Given the description of an element on the screen output the (x, y) to click on. 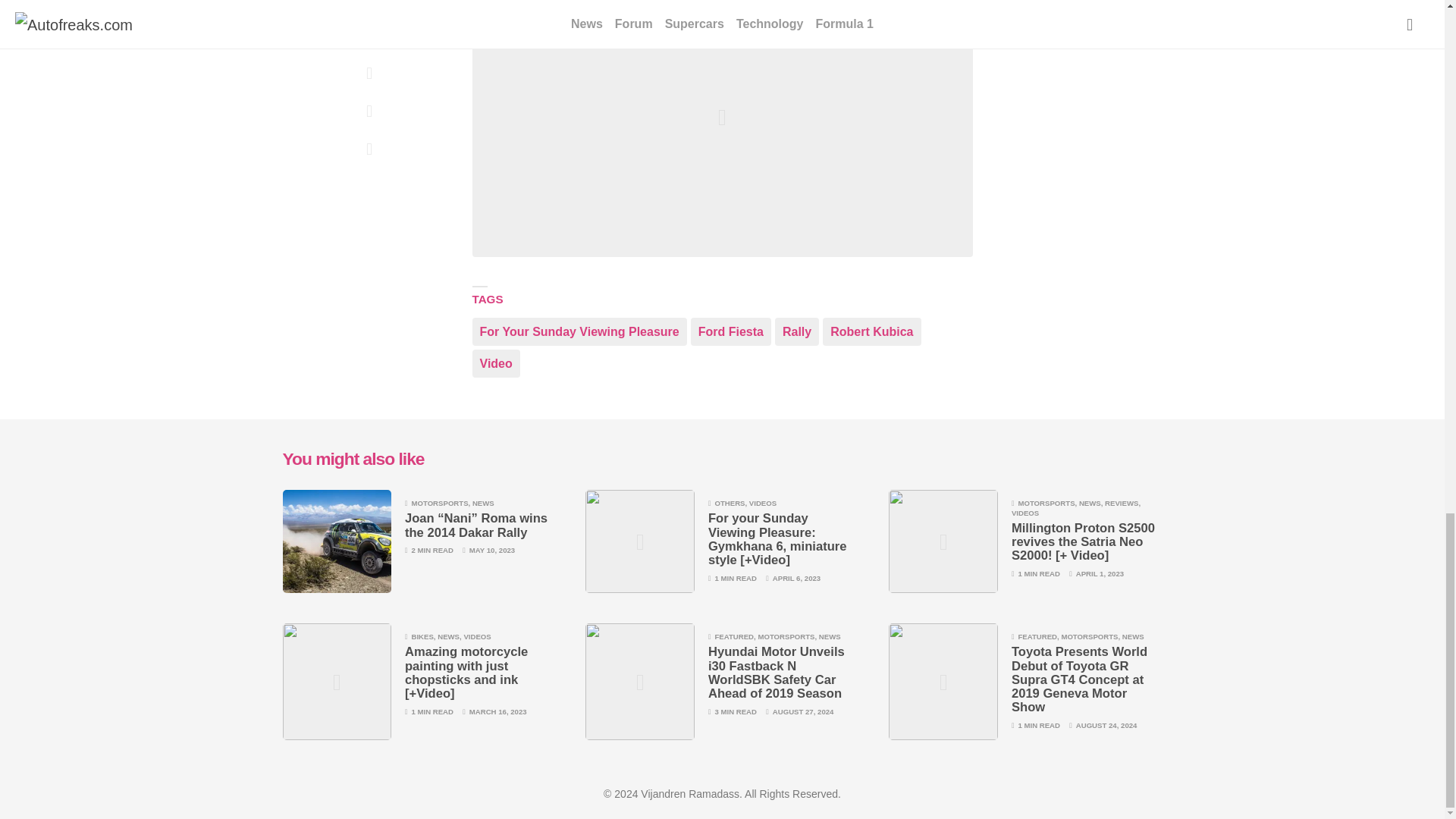
BIKES (421, 636)
REVIEWS (1121, 502)
NEWS (483, 502)
Video (495, 363)
VIDEOS (762, 502)
MOTORSPORTS (438, 502)
Ford Fiesta (730, 331)
Robert Kubica (871, 331)
MOTORSPORTS (1045, 502)
Rally (796, 331)
